Given the description of an element on the screen output the (x, y) to click on. 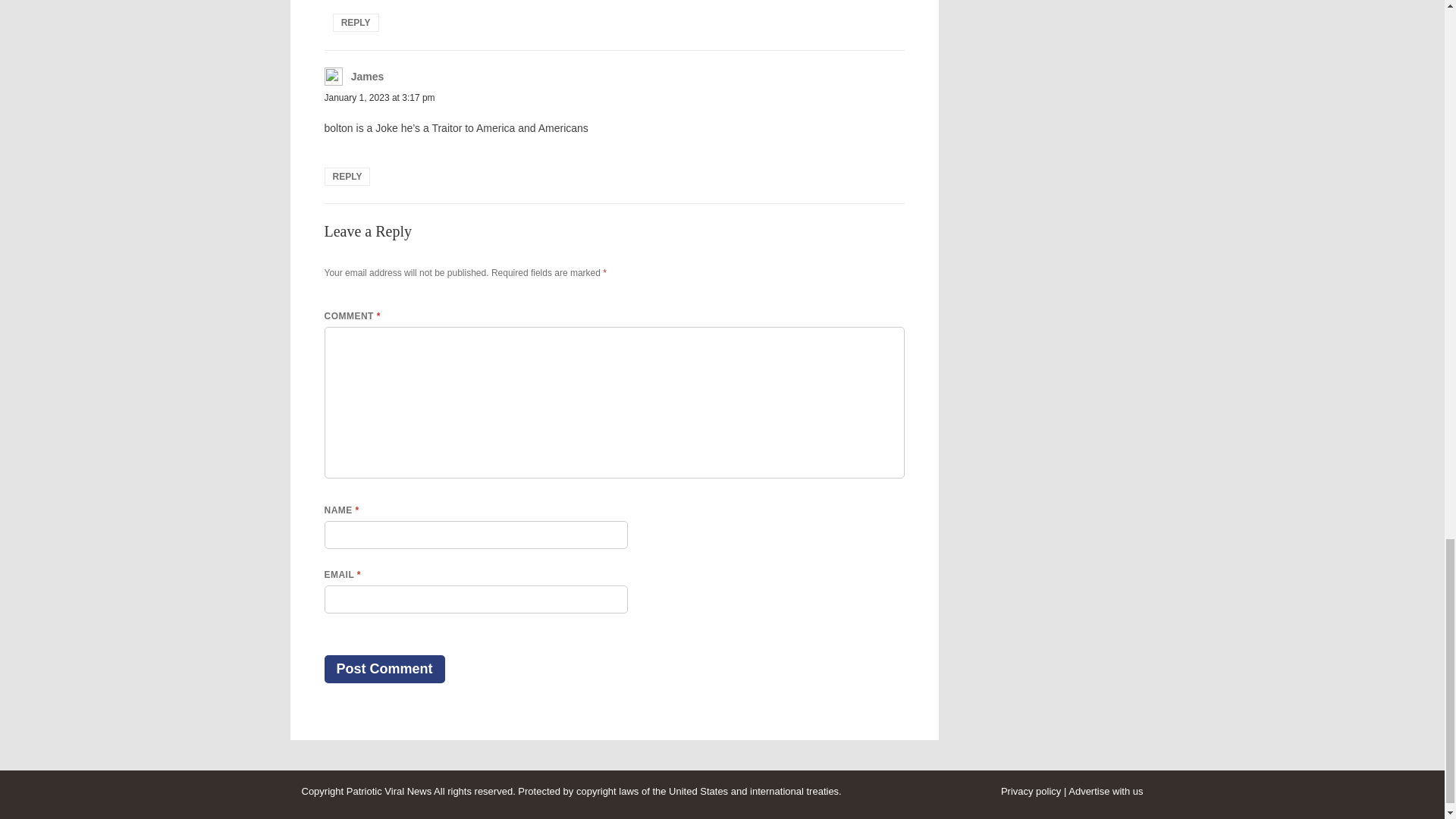
Privacy policy (1031, 790)
REPLY (347, 176)
January 1, 2023 at 3:17 pm (379, 97)
Advertise with us (1105, 790)
Post Comment (384, 669)
REPLY (355, 22)
Post Comment (384, 669)
